Given the description of an element on the screen output the (x, y) to click on. 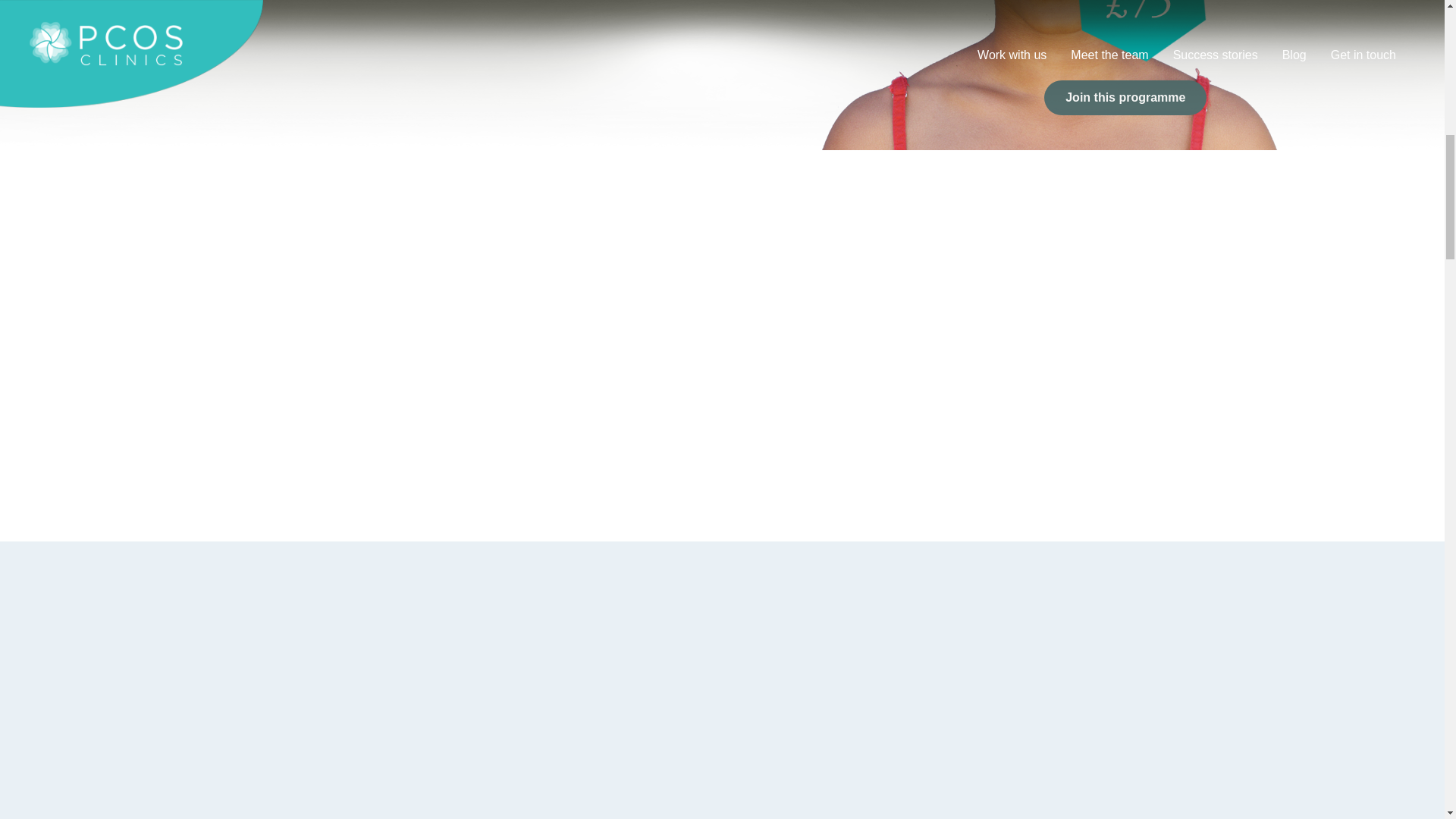
Join this programme (1125, 97)
